Given the description of an element on the screen output the (x, y) to click on. 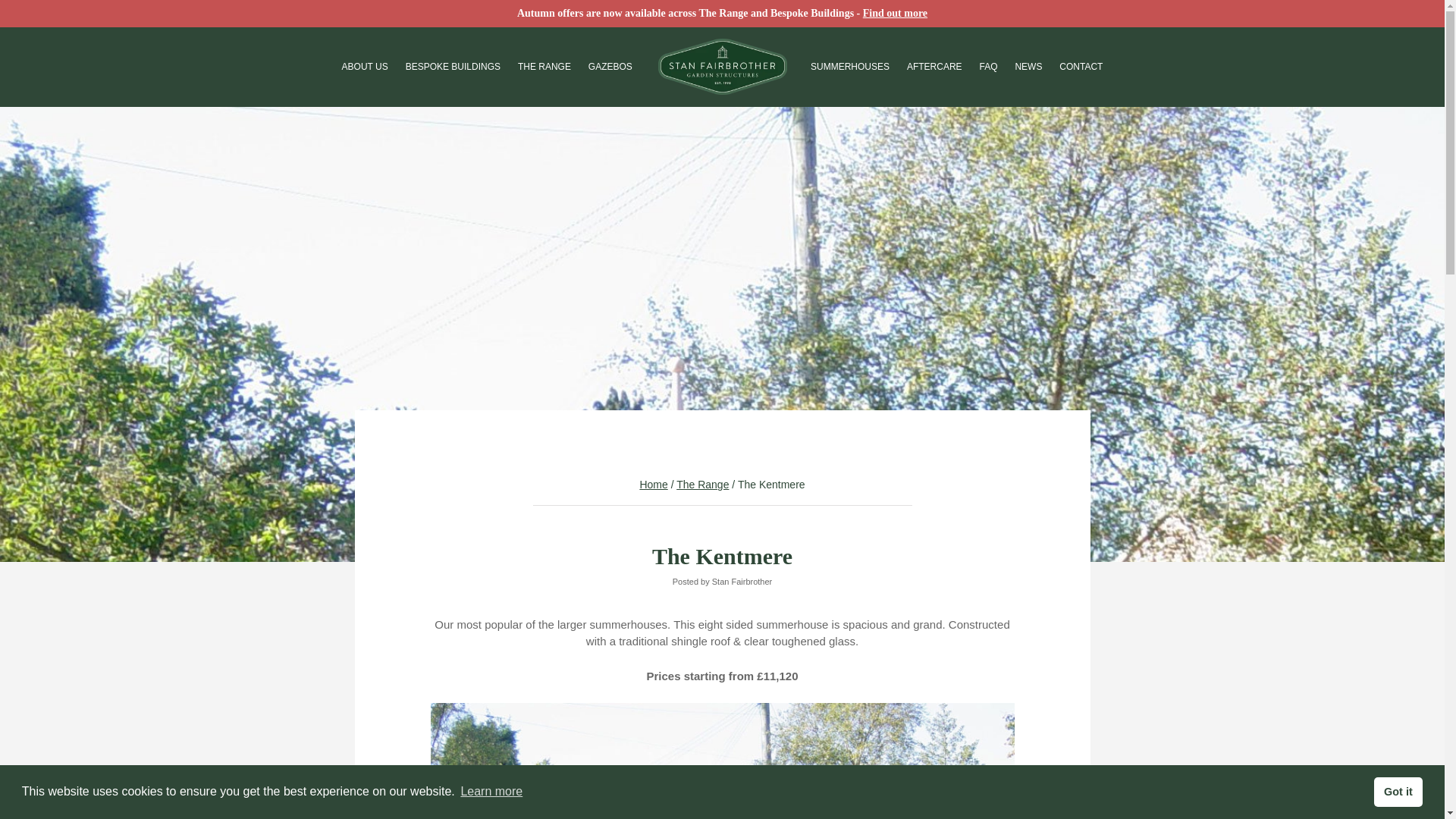
Stan Fairbrother (741, 581)
Home (652, 484)
THE RANGE (544, 66)
Posts by Stan Fairbrother (741, 581)
GAZEBOS (609, 66)
ABOUT US (365, 66)
The Range (703, 484)
AFTERCARE (934, 66)
CONTACT (1080, 66)
SUMMERHOUSES (849, 66)
BESPOKE BUILDINGS (453, 66)
NEWS (1028, 66)
Find out more (895, 12)
FAQ (987, 66)
